Given the description of an element on the screen output the (x, y) to click on. 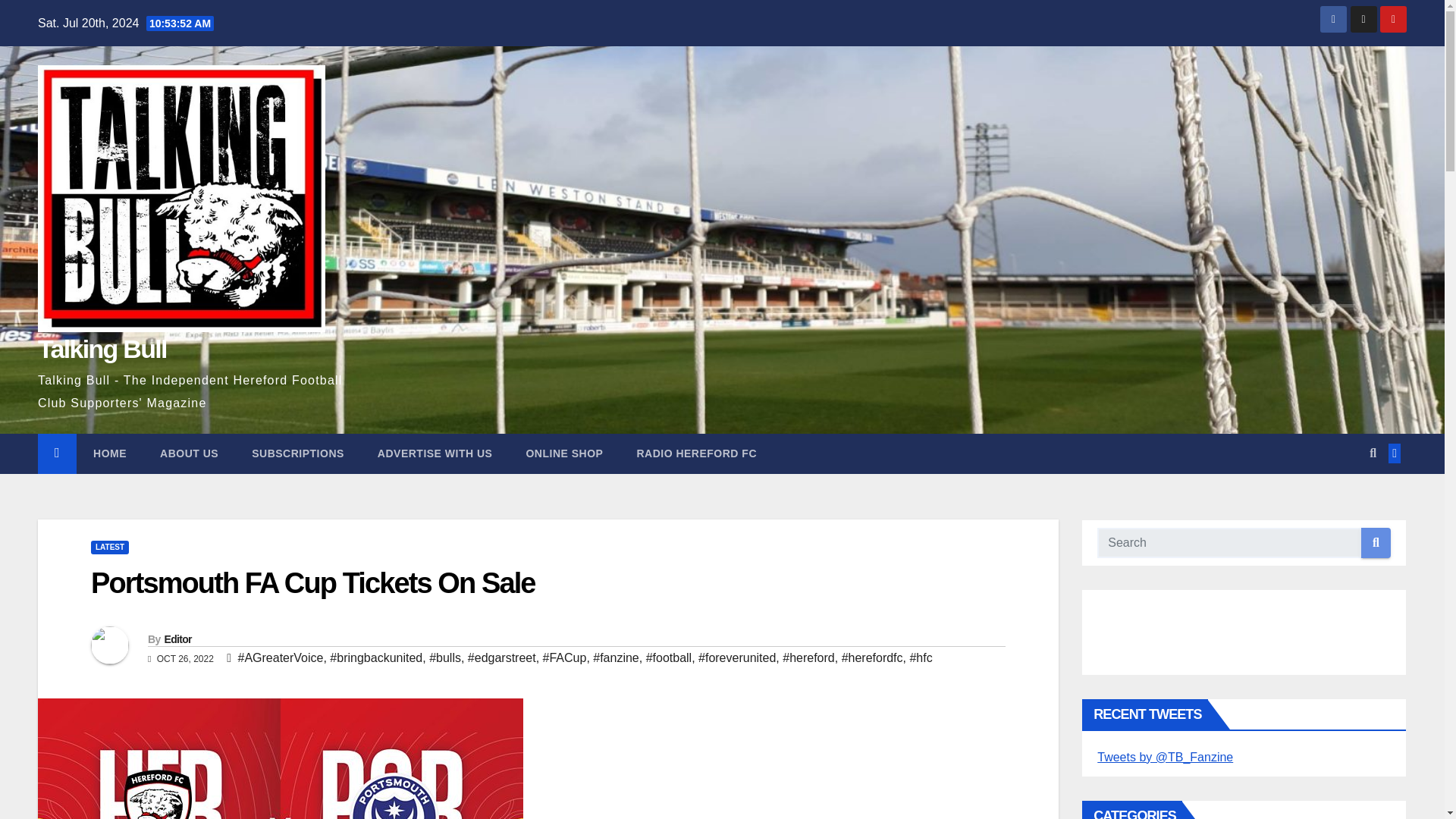
Editor (176, 639)
Permalink to: Portsmouth FA Cup Tickets On Sale (312, 582)
ONLINE SHOP (564, 453)
ABOUT US (188, 453)
LATEST (109, 547)
Advertise with us (435, 453)
ADVERTISE WITH US (435, 453)
RADIO HEREFORD FC (696, 453)
Radio Hereford FC (696, 453)
HOME (109, 453)
Talking Bull (102, 348)
SUBSCRIPTIONS (297, 453)
Portsmouth FA Cup Tickets On Sale (312, 582)
Home (109, 453)
Subscriptions (297, 453)
